Given the description of an element on the screen output the (x, y) to click on. 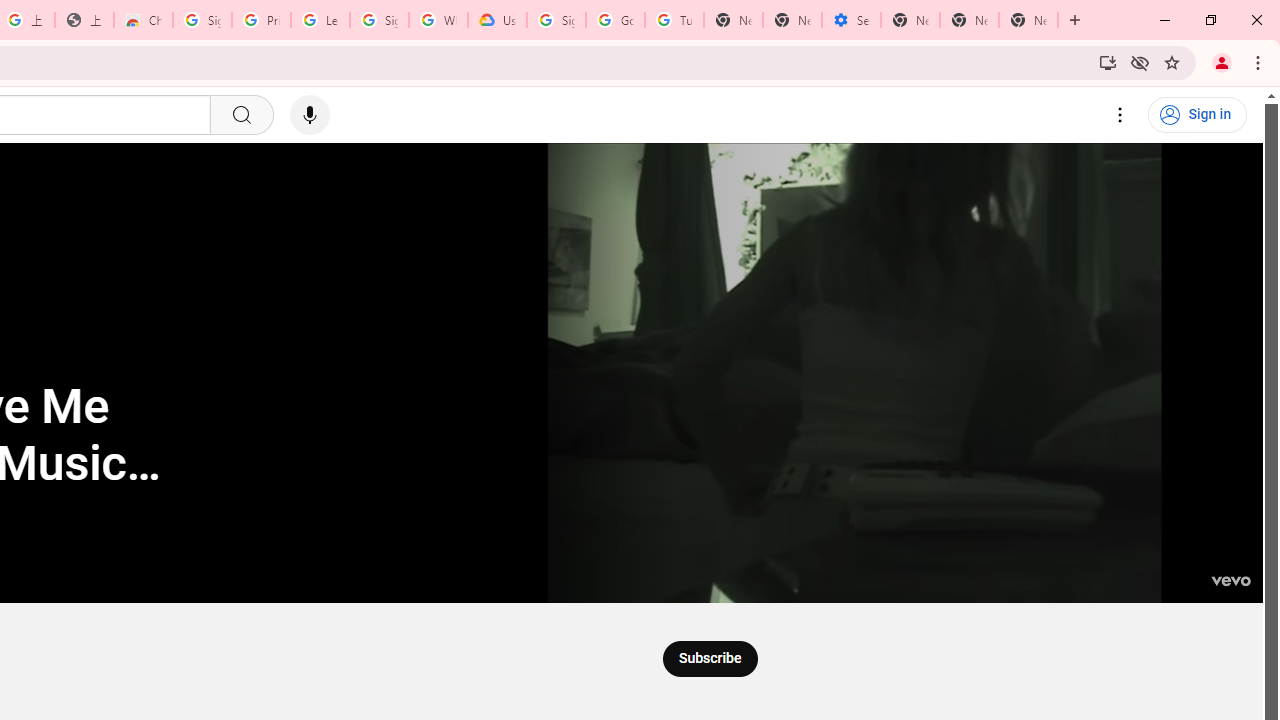
Channel watermark (1230, 570)
Chrome Web Store (142, 20)
Sign in - Google Accounts (201, 20)
Settings - Addresses and more (850, 20)
Turn cookies on or off - Computer - Google Account Help (674, 20)
Google Account Help (615, 20)
Search with your voice (309, 115)
Install YouTube (1107, 62)
